Given the description of an element on the screen output the (x, y) to click on. 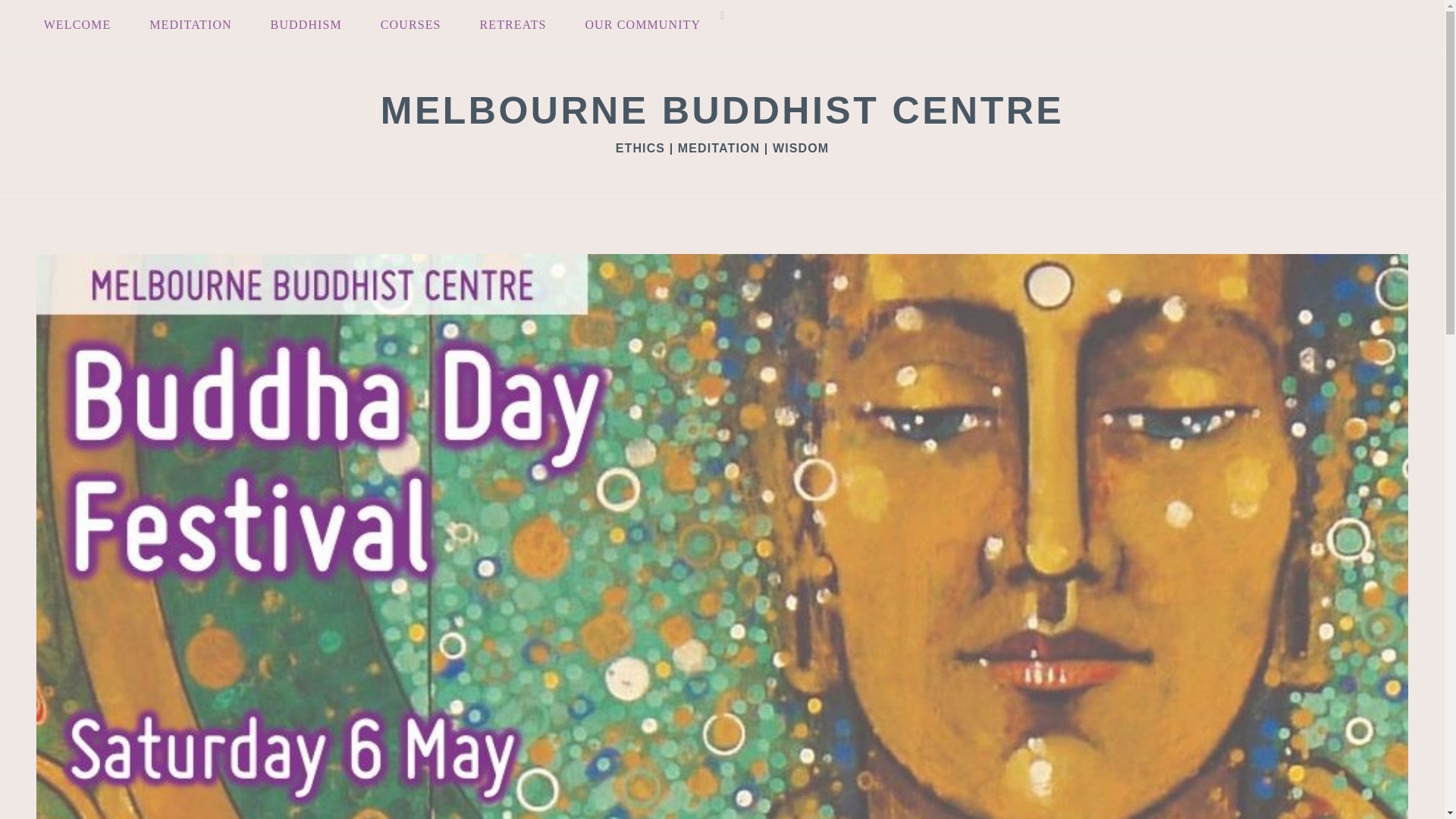
MEDITATION (190, 25)
BUDDHISM (306, 25)
COURSES (410, 25)
RETREATS (512, 25)
OUR COMMUNITY (641, 25)
MELBOURNE BUDDHIST CENTRE (722, 110)
WELCOME (77, 25)
